Given the description of an element on the screen output the (x, y) to click on. 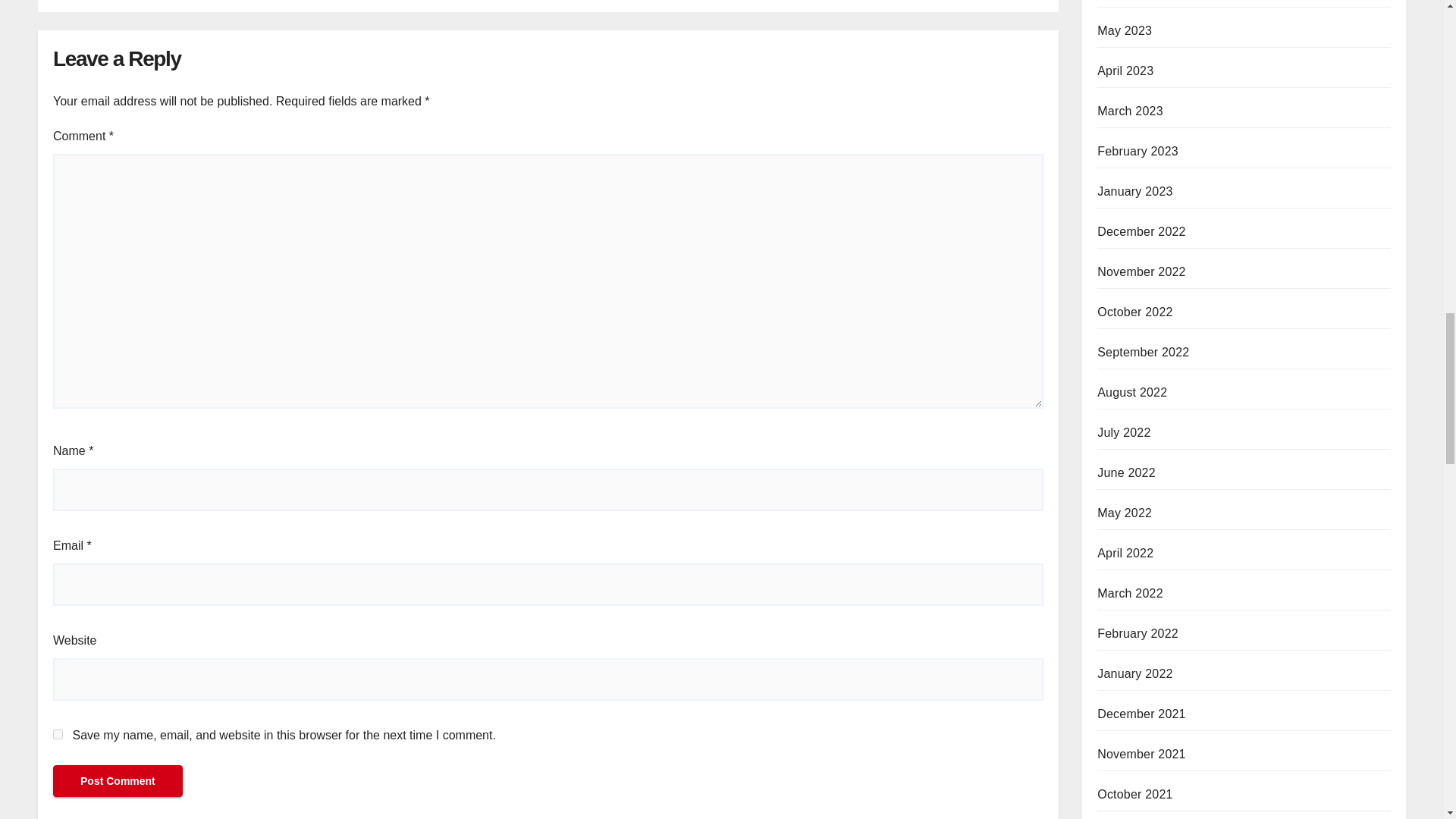
Post Comment (117, 780)
yes (57, 734)
